Given the description of an element on the screen output the (x, y) to click on. 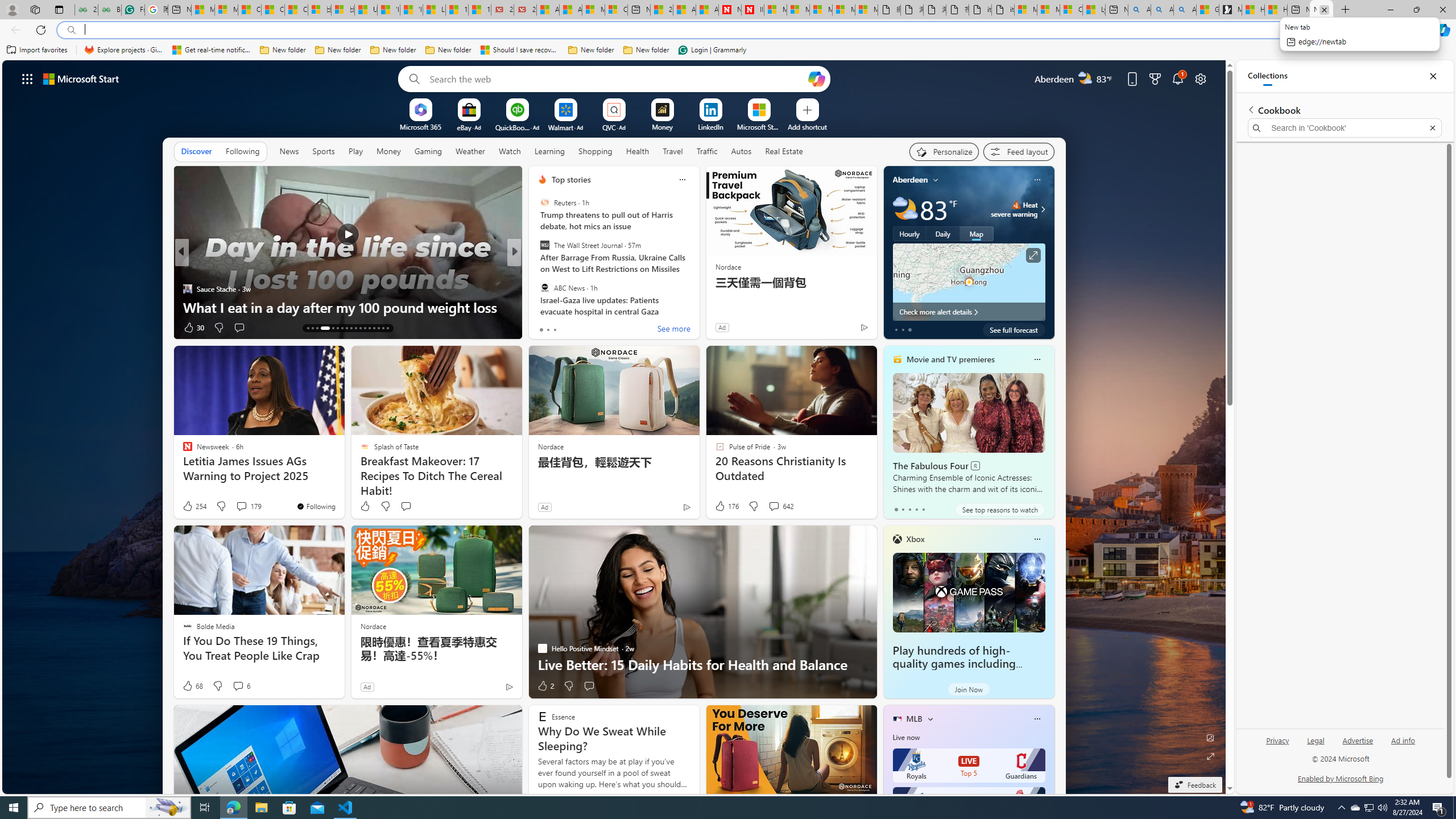
Heat - Severe (1015, 204)
Start the conversation (588, 685)
MLB (914, 718)
Class: icon-img (1037, 718)
Enter your search term (617, 78)
My location (936, 179)
63 Like (543, 327)
30 Like (192, 327)
Real Estate (783, 151)
Free AI Writing Assistance for Students | Grammarly (132, 9)
Start the conversation (588, 685)
Debunking Myths: 10 Things Jesus Never Actually Said (697, 298)
Learning (549, 151)
